Given the description of an element on the screen output the (x, y) to click on. 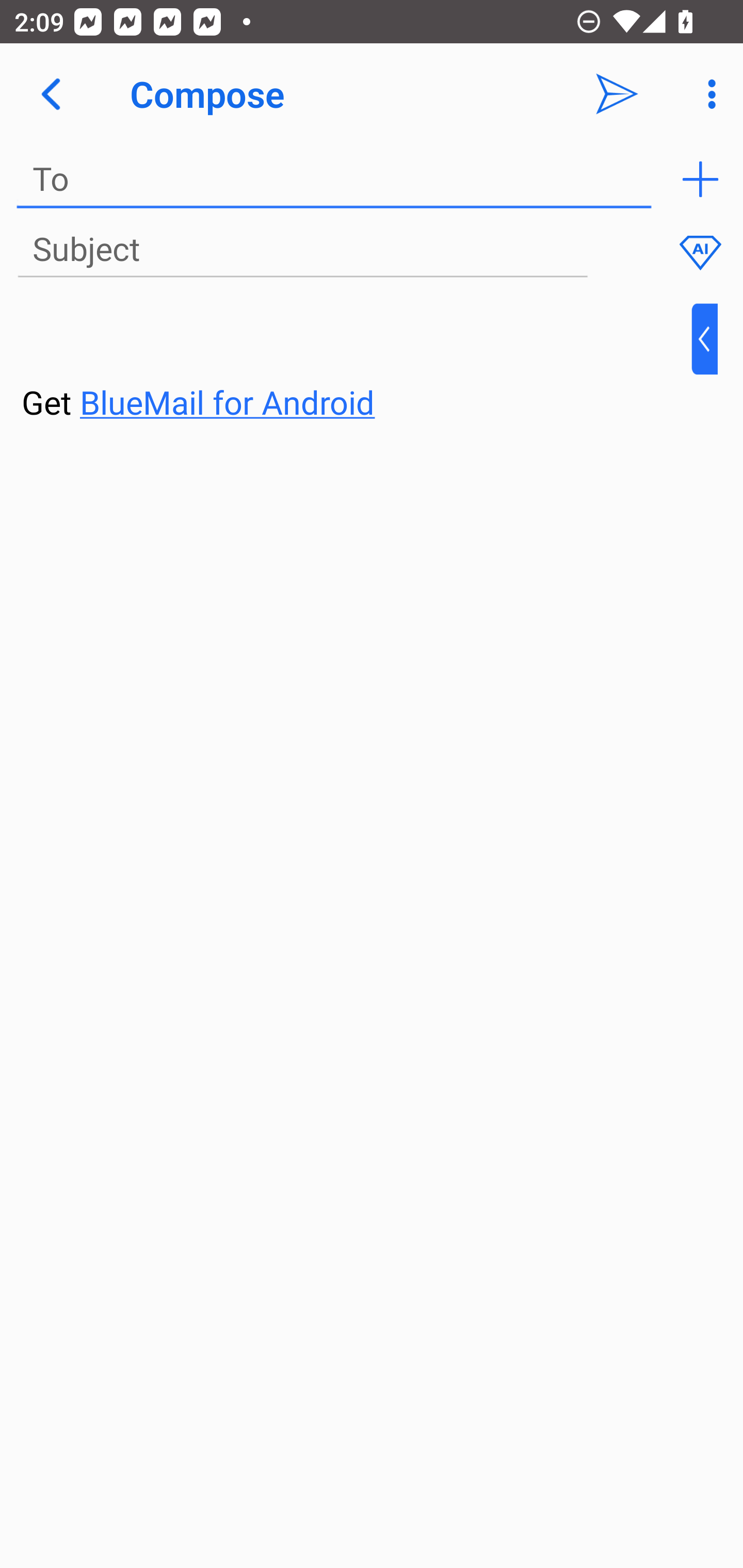
Navigate up (50, 93)
Send (616, 93)
More Options (706, 93)
To (334, 179)
Add recipient (To) (699, 179)
Subject (302, 249)


⁣Get BlueMail for Android ​ (355, 363)
